Given the description of an element on the screen output the (x, y) to click on. 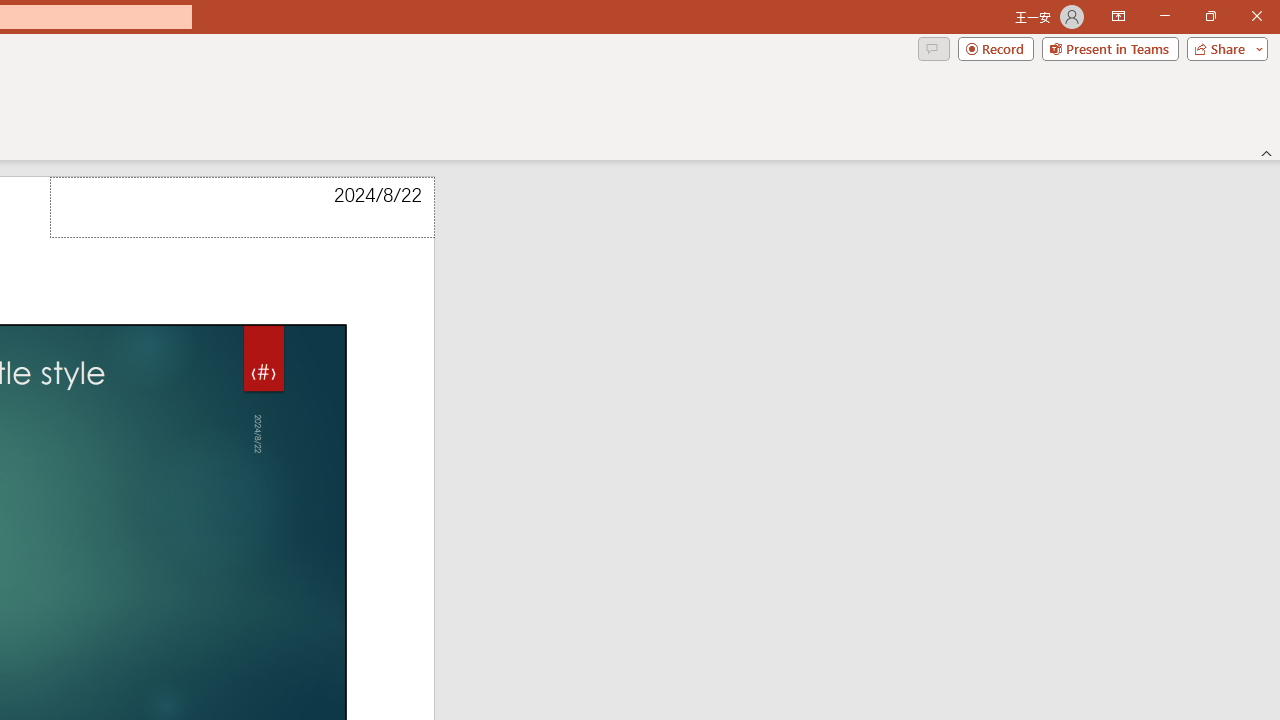
Date (242, 207)
